Given the description of an element on the screen output the (x, y) to click on. 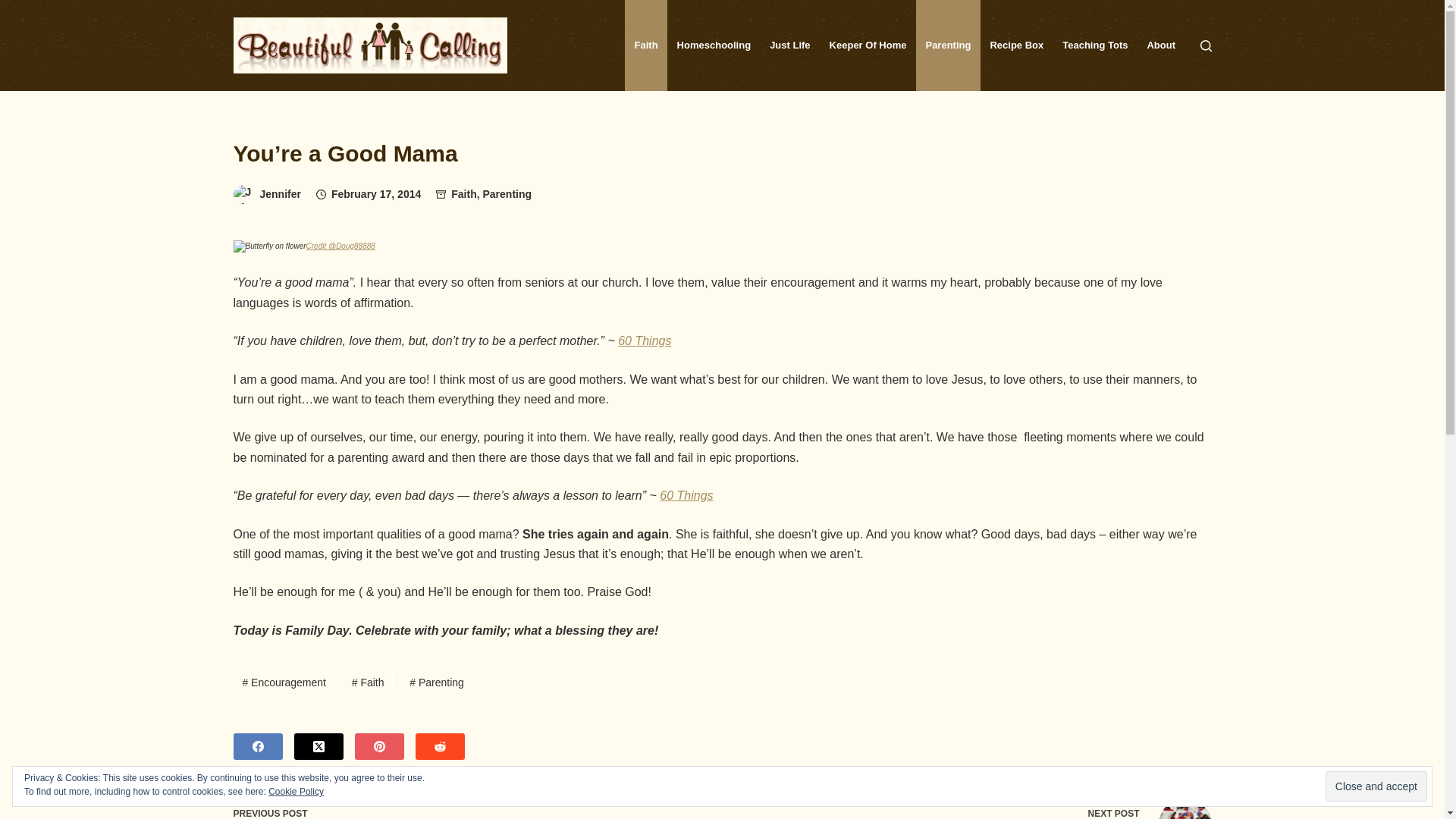
Parenting Element type: text (948, 45)
60 Things Element type: text (685, 495)
Teaching Tots Element type: text (1095, 45)
# Encouragement Element type: text (284, 682)
Homeschooling Element type: text (713, 45)
Recipe Box Element type: text (1016, 45)
About Element type: text (1161, 45)
Keeper Of Home Element type: text (867, 45)
Credit @Doug88888 Element type: text (340, 244)
# Parenting Element type: text (436, 682)
Skip to content Element type: text (15, 7)
Faith Element type: text (645, 45)
Jennifer Element type: text (279, 194)
Faith Element type: text (463, 194)
Just Life Element type: text (789, 45)
# Faith Element type: text (367, 682)
Parenting Element type: text (506, 194)
60 Things Element type: text (644, 340)
Close and accept Element type: text (1376, 786)
Cookie Policy Element type: text (295, 791)
